Given the description of an element on the screen output the (x, y) to click on. 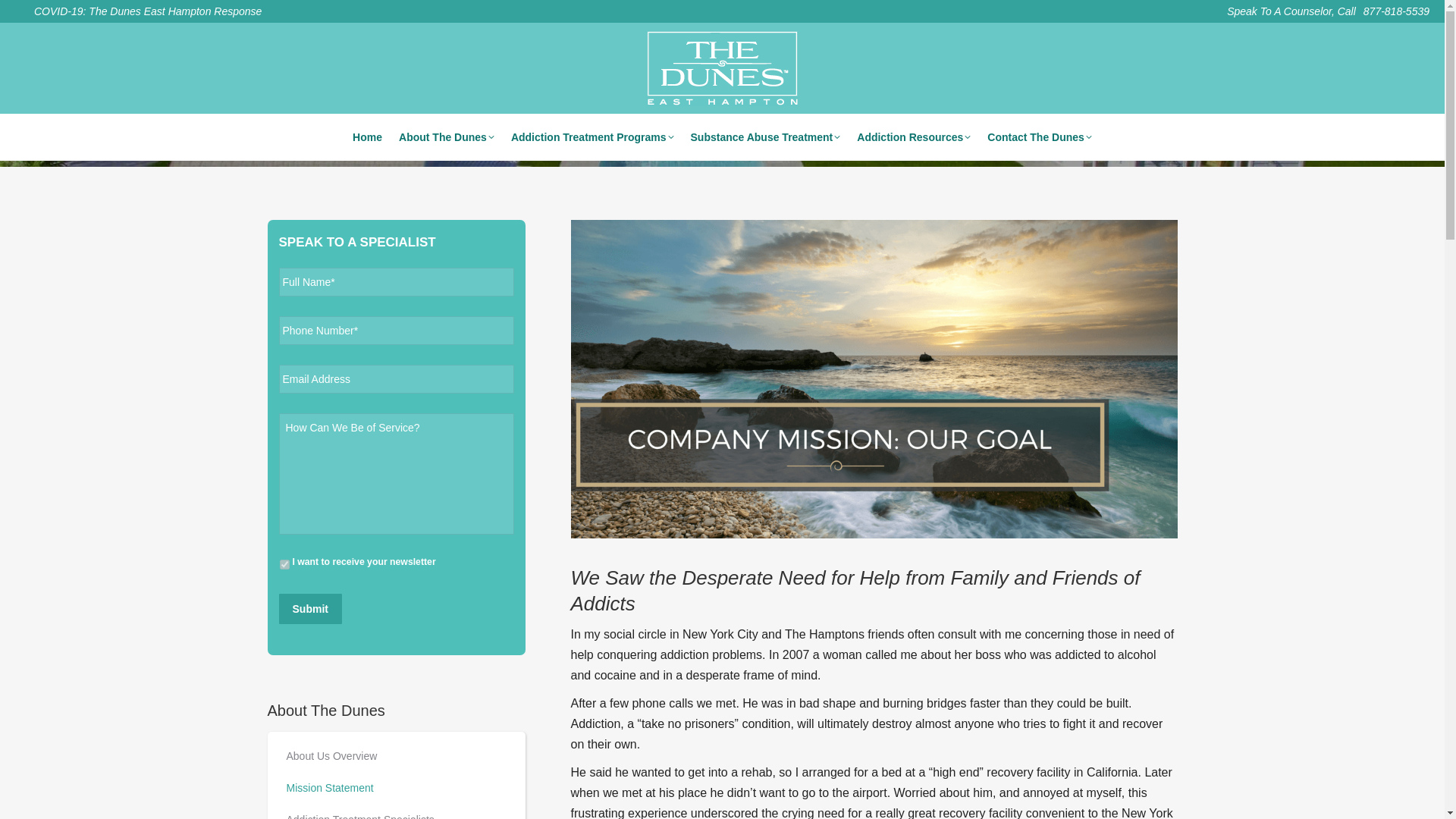
877-818-5539 (1395, 11)
About The Dunes (446, 137)
Addiction Treatment Programs (592, 137)
Submit (310, 608)
COVID-19: The Dunes East Hampton Response (138, 11)
Substance Abuse Treatment (765, 137)
Home (367, 137)
Homepage (367, 137)
Addiction Treatment Programs (592, 137)
I want to receive your newsletter (283, 564)
About The Dunes (446, 137)
